Given the description of an element on the screen output the (x, y) to click on. 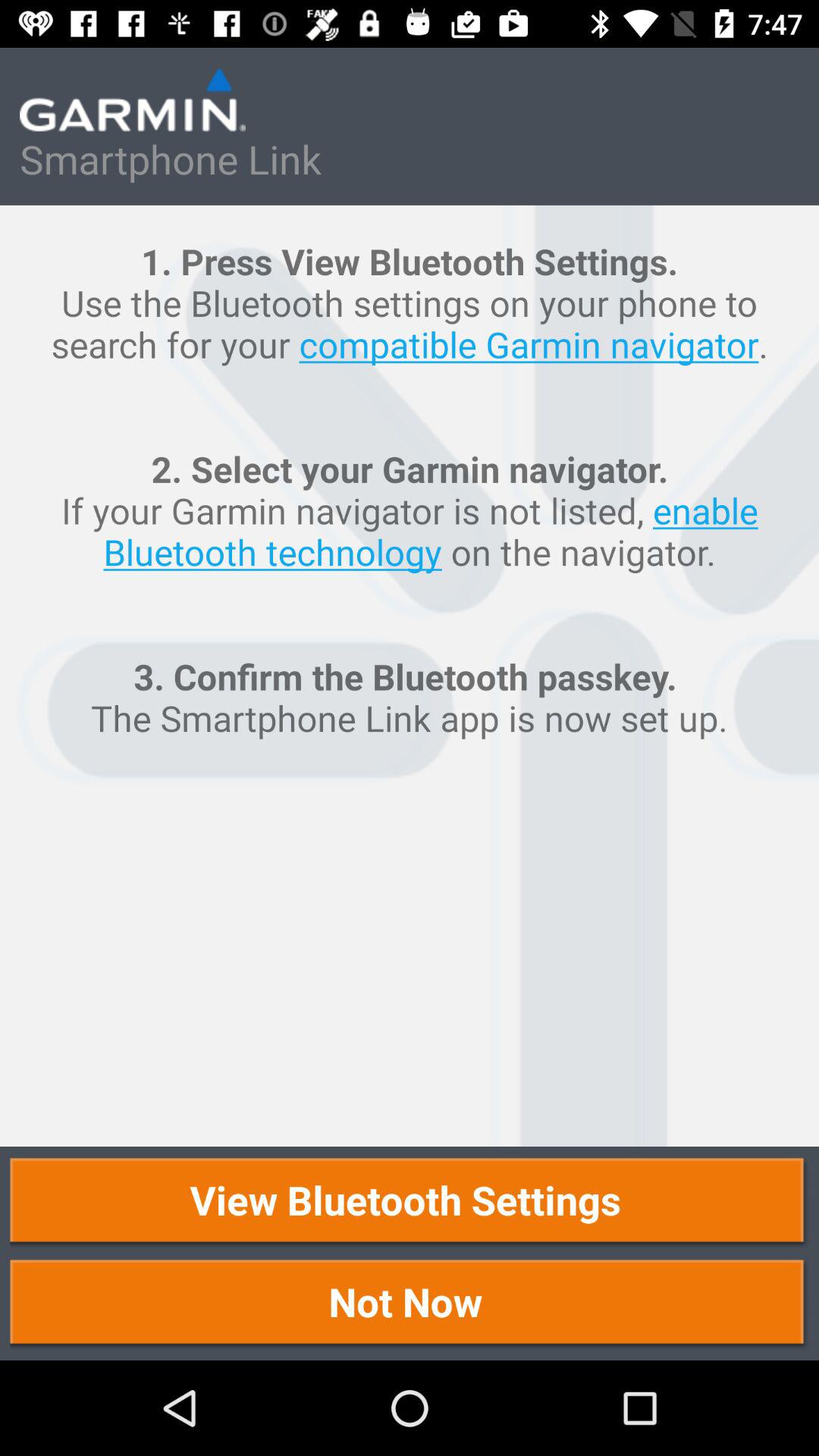
scroll to 1 press view (409, 675)
